Given the description of an element on the screen output the (x, y) to click on. 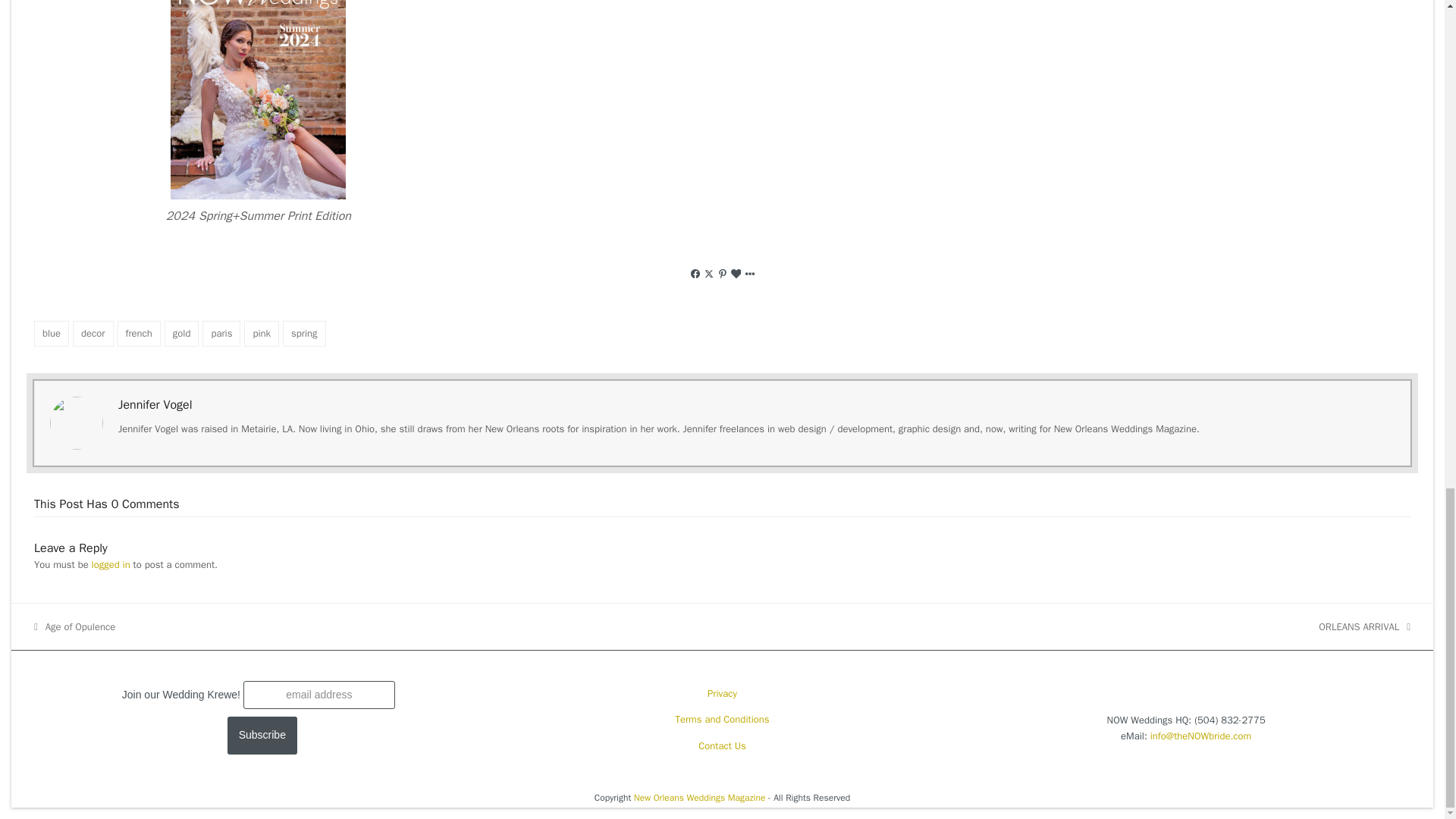
Subscribe (262, 735)
